Given the description of an element on the screen output the (x, y) to click on. 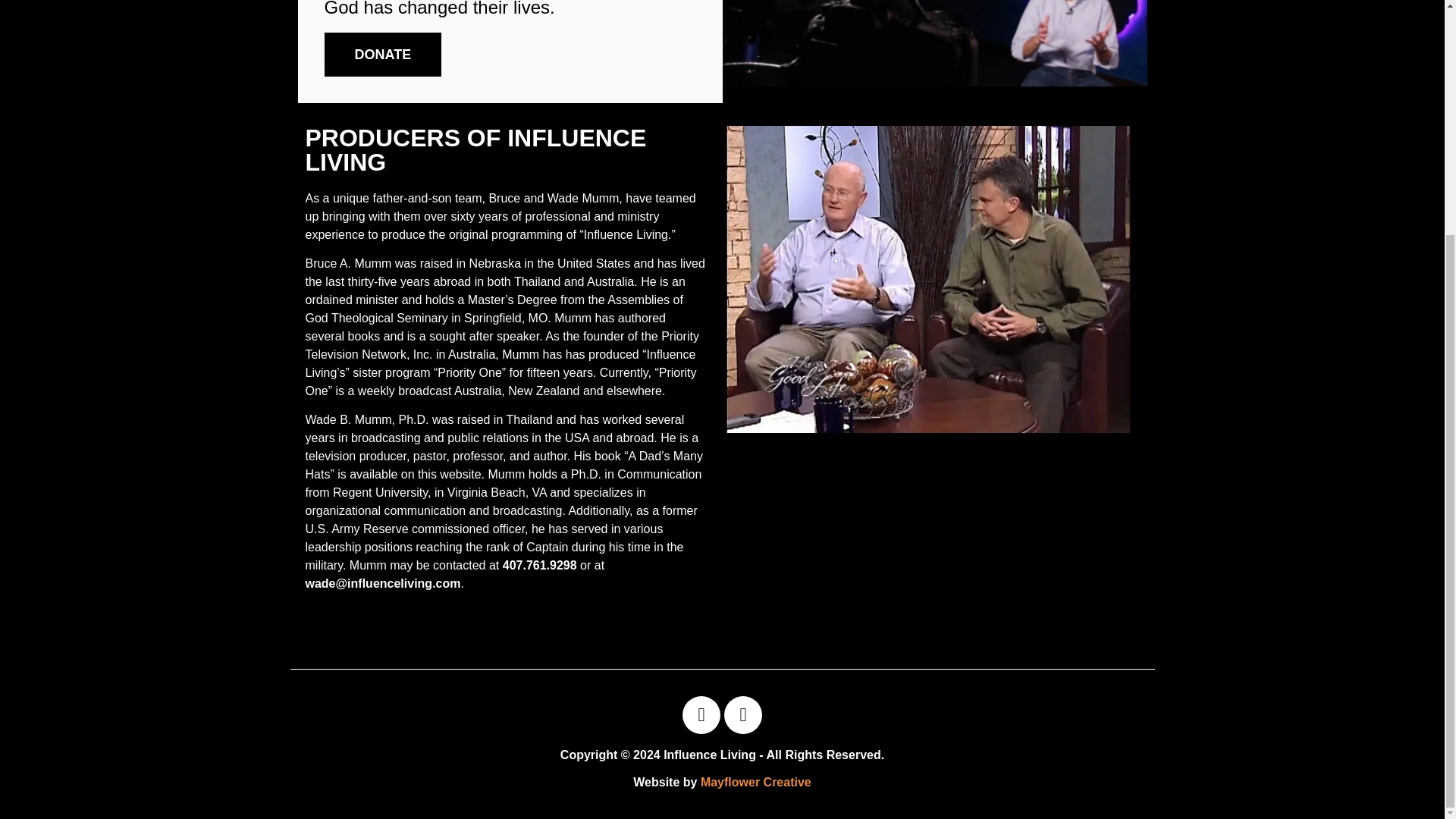
Mayflower Creative (755, 781)
DONATE (383, 54)
